Given the description of an element on the screen output the (x, y) to click on. 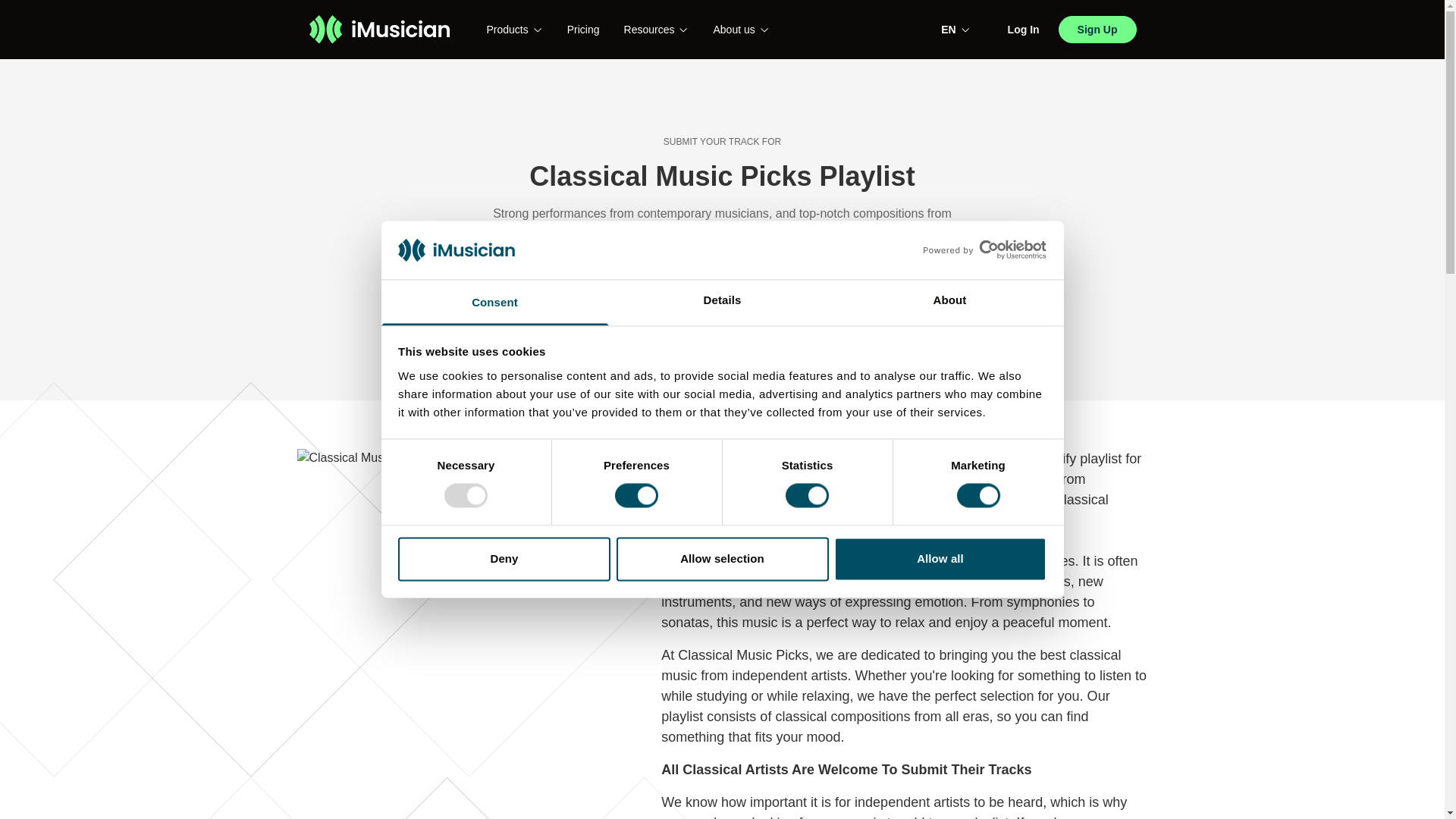
Details (721, 302)
Consent (494, 302)
About (948, 302)
Classical Music Picks - iMusician Playlists (442, 594)
